Given the description of an element on the screen output the (x, y) to click on. 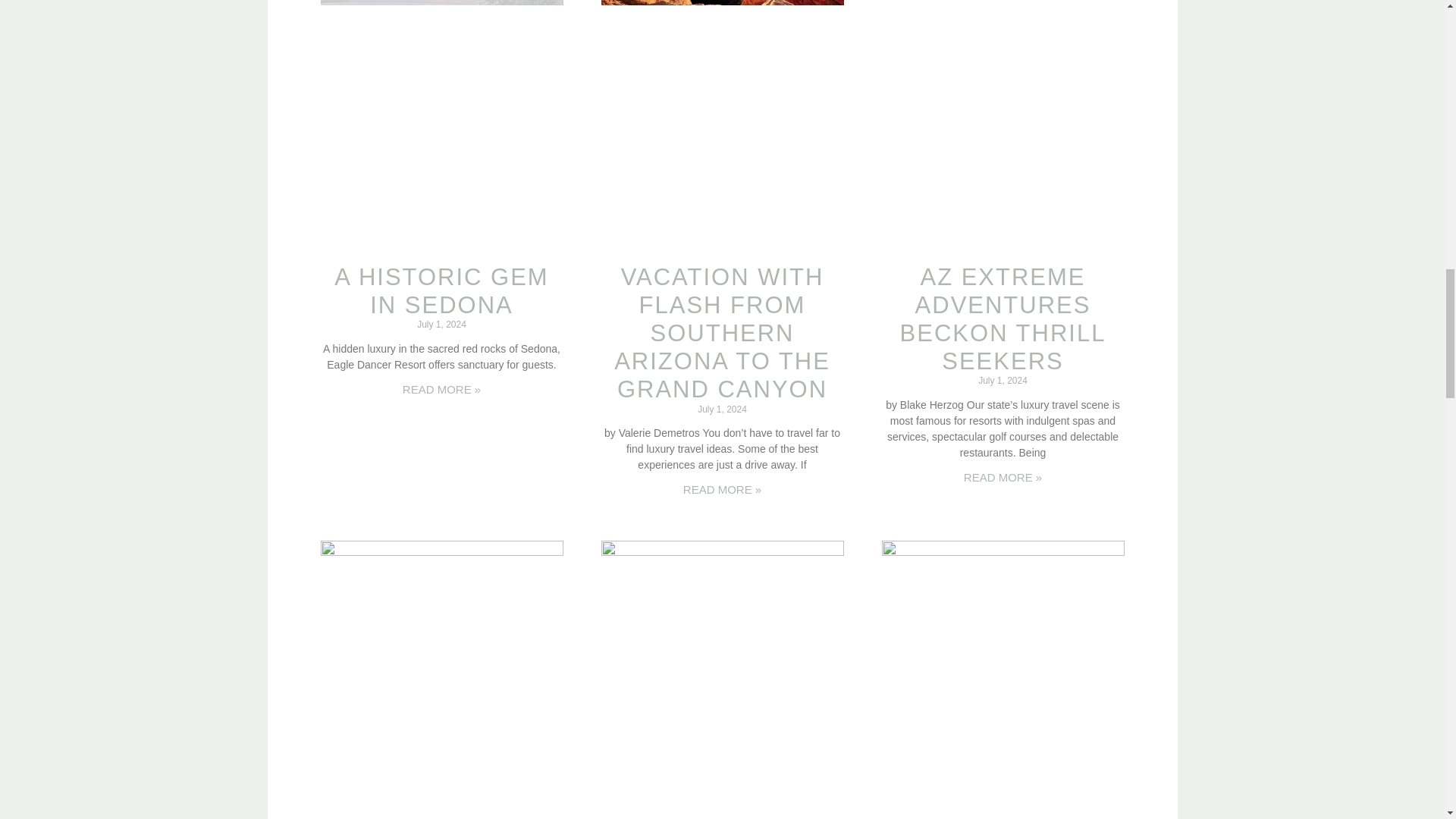
AZ EXTREME ADVENTURES BECKON THRILL SEEKERS (1002, 319)
A HISTORIC GEM IN SEDONA (441, 290)
